Given the description of an element on the screen output the (x, y) to click on. 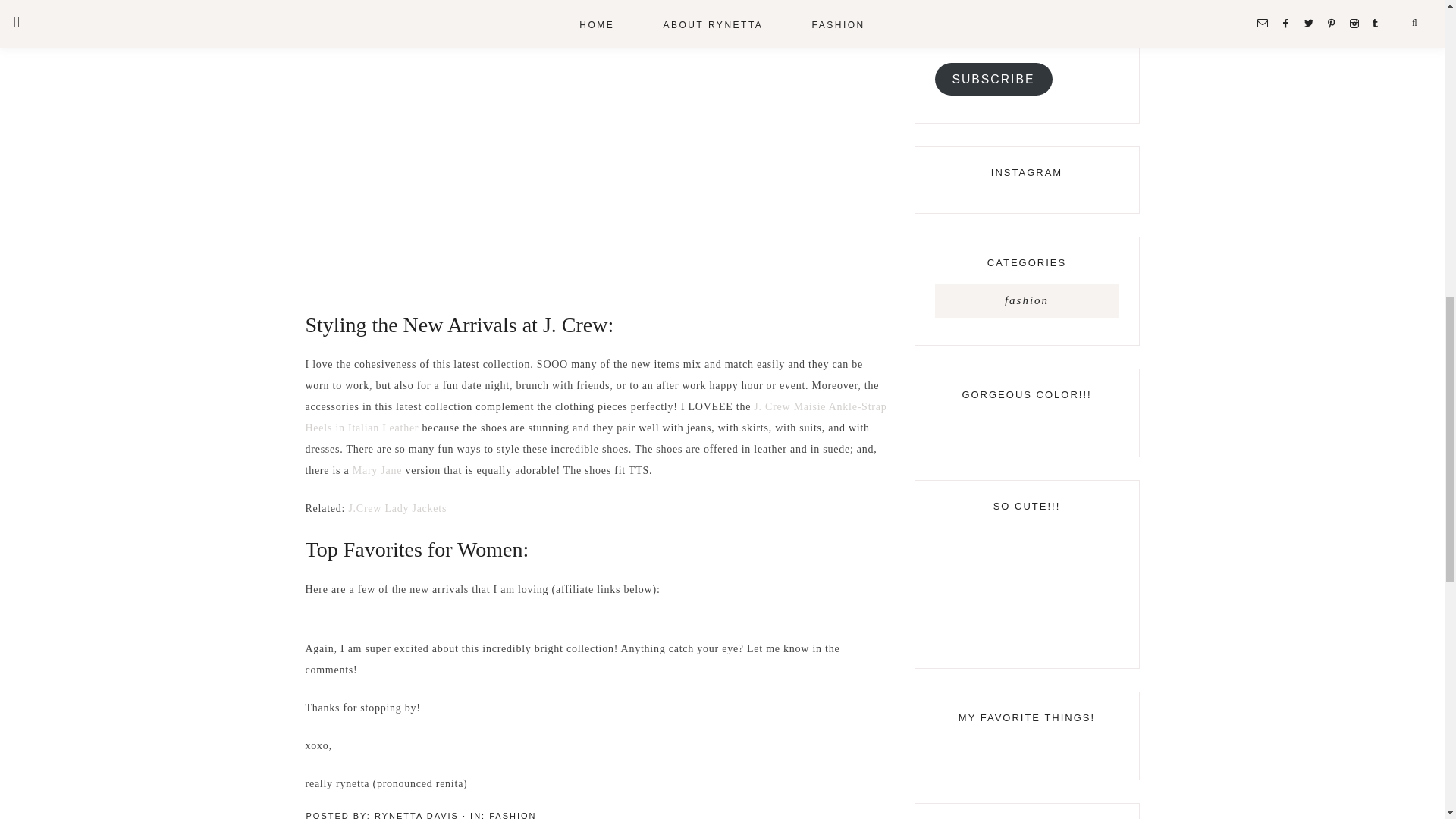
FASHION (512, 815)
J. Crew Maisie Ankle-Strap Heels in Italian Leather (595, 417)
SUBSCRIBE (992, 79)
J.Crew Lady Jackets (396, 508)
RYNETTA DAVIS (416, 815)
Mary Jane (376, 470)
fashion (1026, 300)
